Given the description of an element on the screen output the (x, y) to click on. 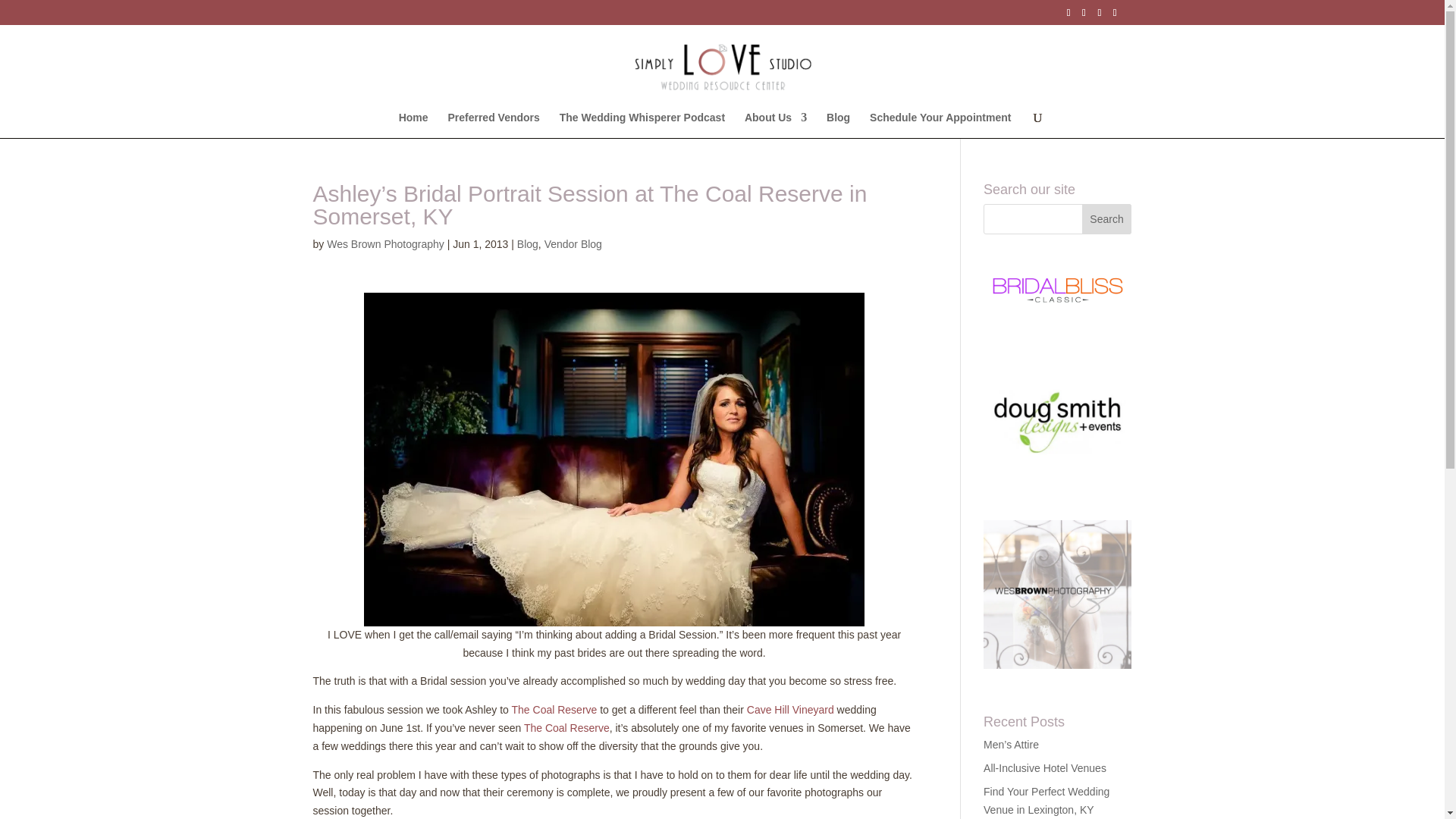
The Wedding Whisperer Podcast (642, 125)
All-Inclusive Hotel Venues (1045, 767)
Cave Hill Vineyard (790, 709)
Schedule Your Appointment (939, 125)
About Us (775, 125)
Wes Brown Photography (385, 244)
The Coal Reserve (567, 727)
Search (1106, 218)
The Coal Reserve (554, 709)
Search (1106, 218)
